Given the description of an element on the screen output the (x, y) to click on. 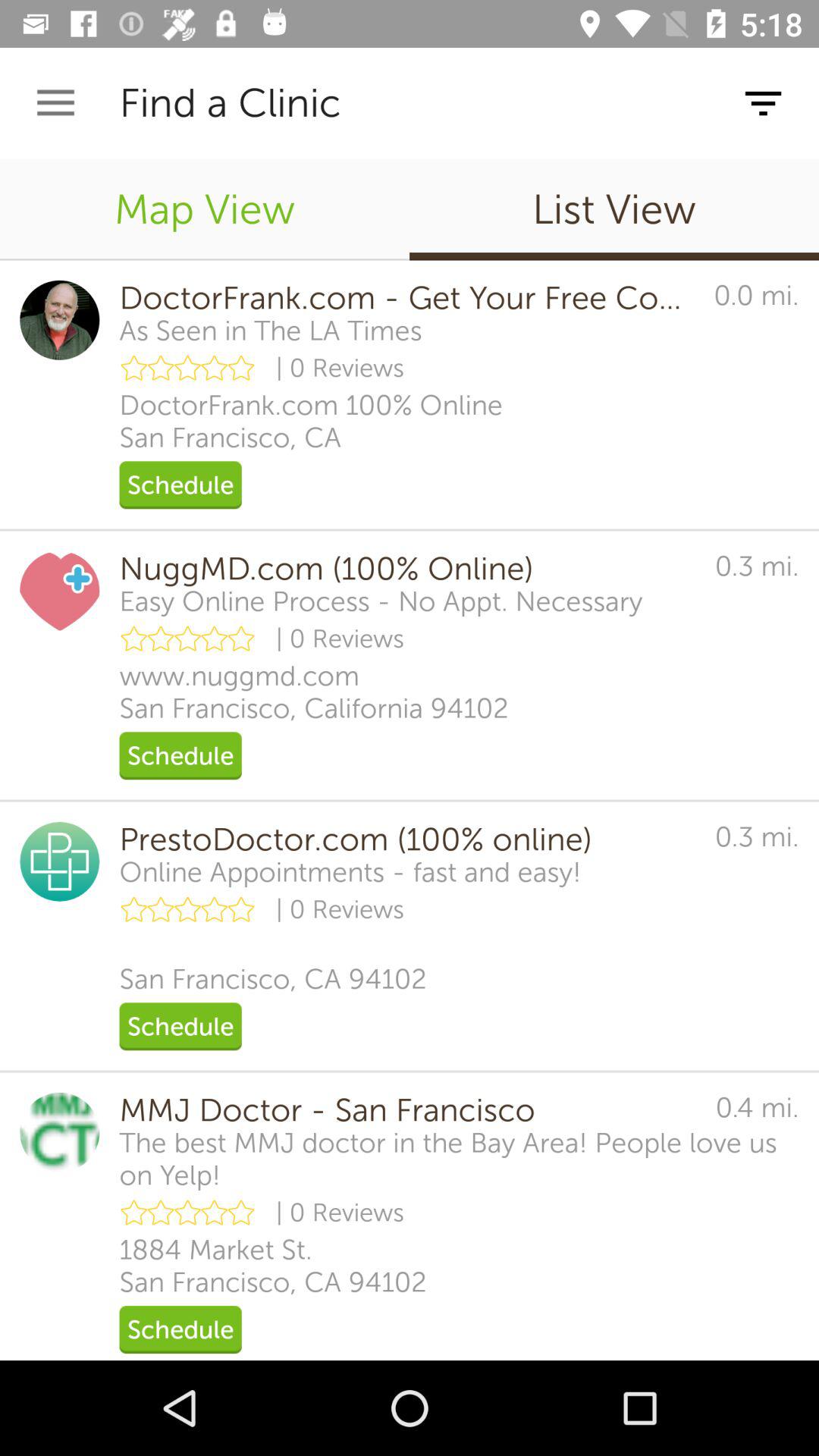
turn on the app to the left of find a clinic item (55, 103)
